Given the description of an element on the screen output the (x, y) to click on. 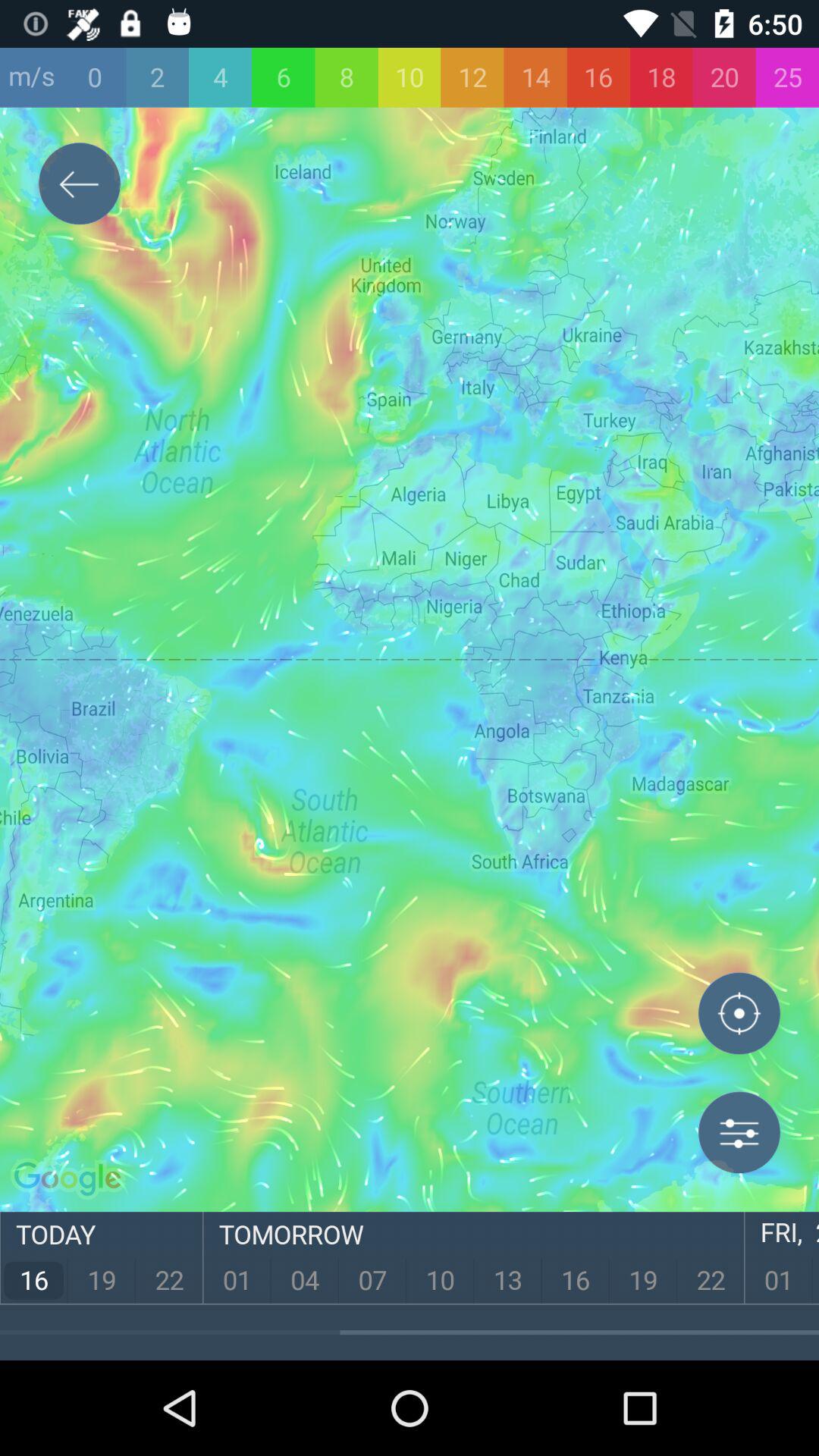
zoom (739, 1016)
